Given the description of an element on the screen output the (x, y) to click on. 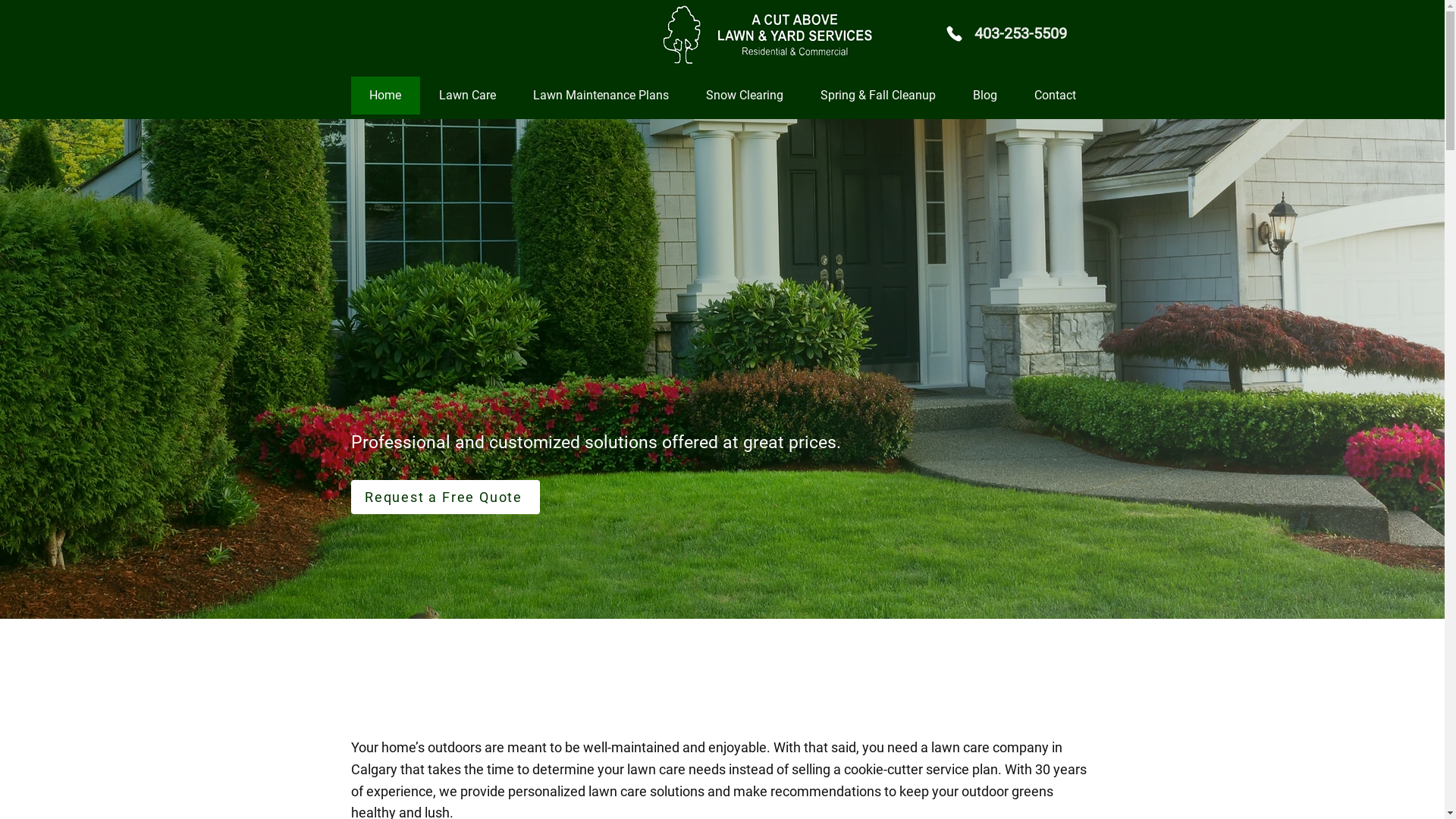
Snow Clearing Element type: text (744, 95)
Request a Free Quote Element type: text (444, 497)
Spring & Fall Cleanup Element type: text (876, 95)
Home Element type: text (384, 95)
Lawn Care Element type: text (467, 95)
Lawn Maintenance Plans Element type: text (600, 95)
Contact Element type: text (1053, 95)
Blog Element type: text (984, 95)
403-253-5509 Element type: text (1019, 33)
